Given the description of an element on the screen output the (x, y) to click on. 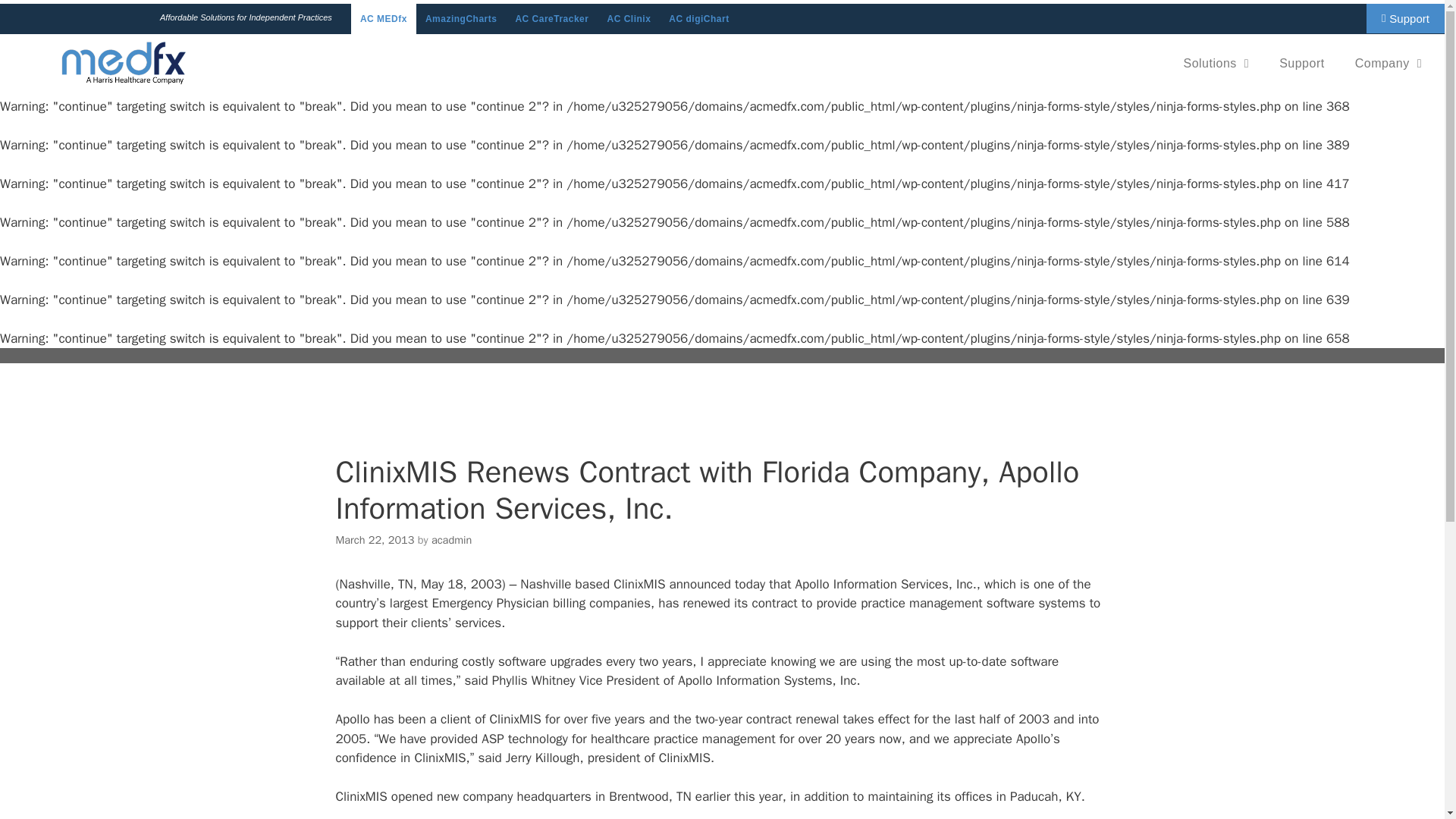
AC CareTracker (552, 17)
AC Clinix (628, 18)
1:26 pm (373, 540)
acadmin (450, 540)
March 22, 2013 (373, 540)
Solutions (1215, 63)
Support (1301, 63)
Company (1388, 63)
View all posts by acadmin (450, 540)
AC MEDfx (381, 14)
AC digiChart (698, 19)
AmazingCharts (455, 16)
